Given the description of an element on the screen output the (x, y) to click on. 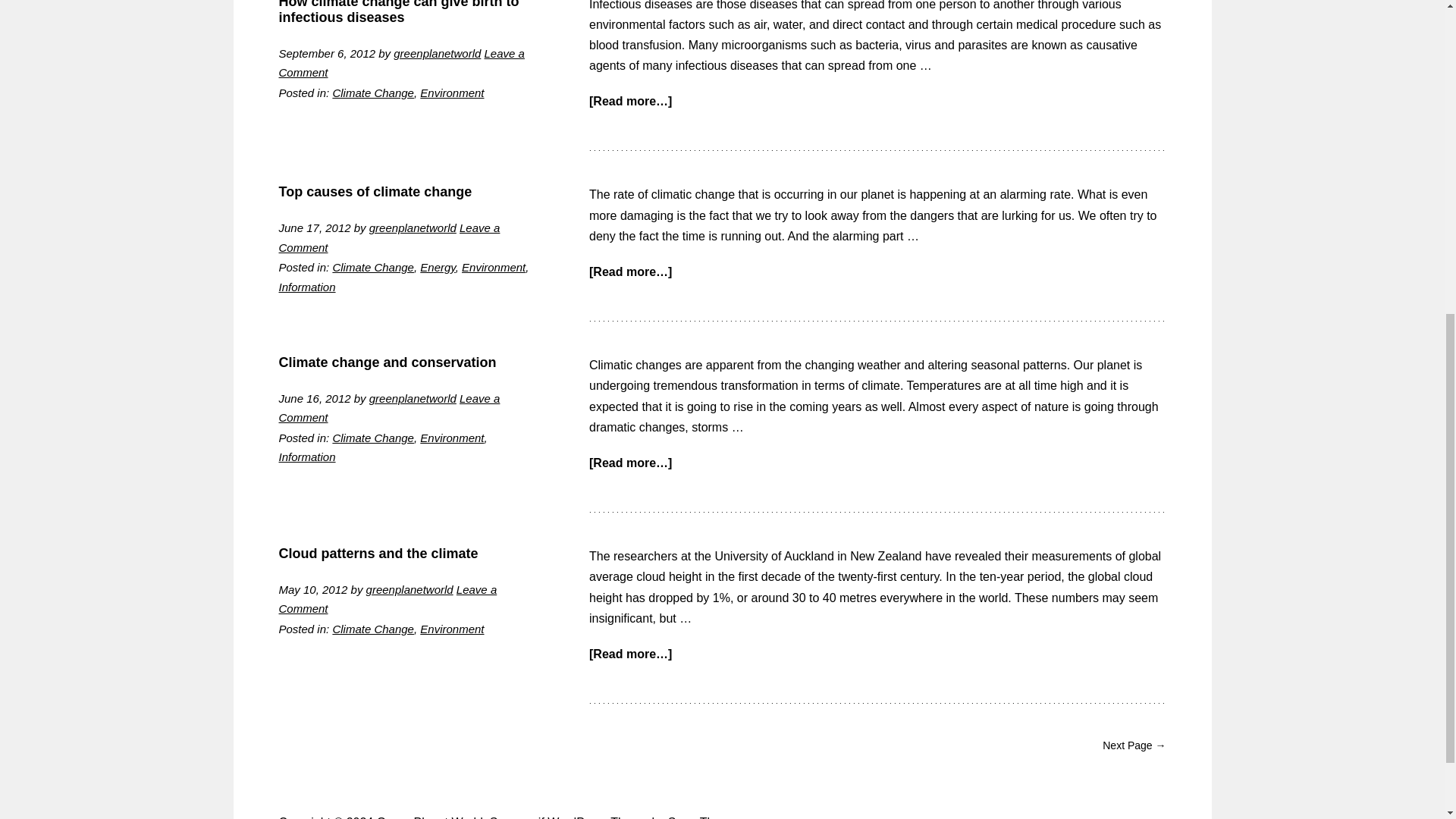
Top causes of climate change (375, 191)
Sunday, June 17, 2012, 12:19 pm (314, 227)
Climate Change (372, 267)
Leave a Comment (389, 408)
Saturday, June 16, 2012, 12:06 pm (314, 398)
Posts by greenplanetworld (436, 52)
greenplanetworld (436, 52)
Environment (493, 267)
Leave a Comment (389, 237)
Leave a Comment (401, 62)
